Given the description of an element on the screen output the (x, y) to click on. 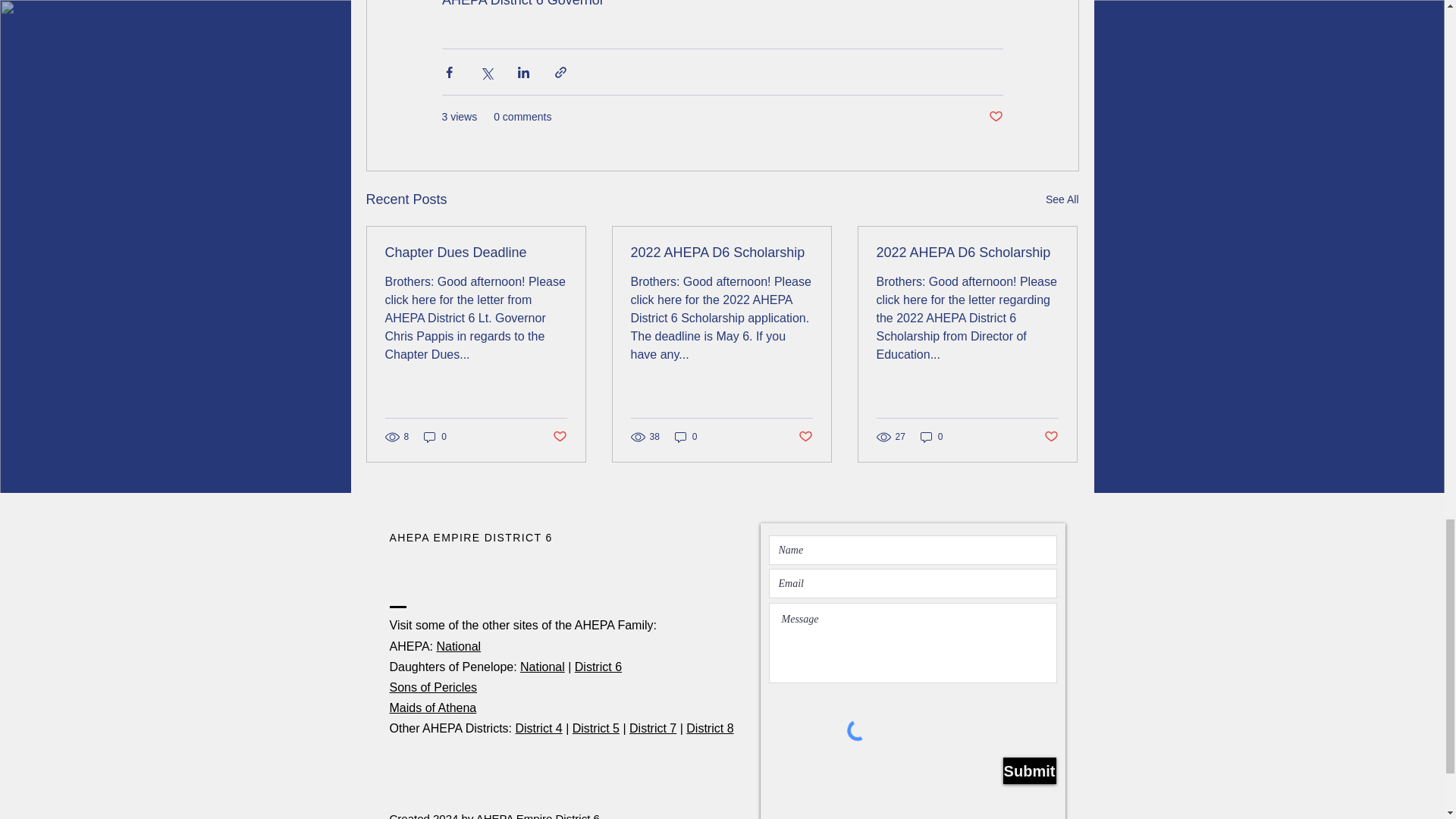
Post not marked as liked (804, 437)
2022 AHEPA D6 Scholarship (967, 252)
0 (931, 436)
0 (685, 436)
Post not marked as liked (995, 116)
See All (1061, 199)
Chapter Dues Deadline (476, 252)
Post not marked as liked (558, 437)
2022 AHEPA D6 Scholarship (721, 252)
0 (435, 436)
